Given the description of an element on the screen output the (x, y) to click on. 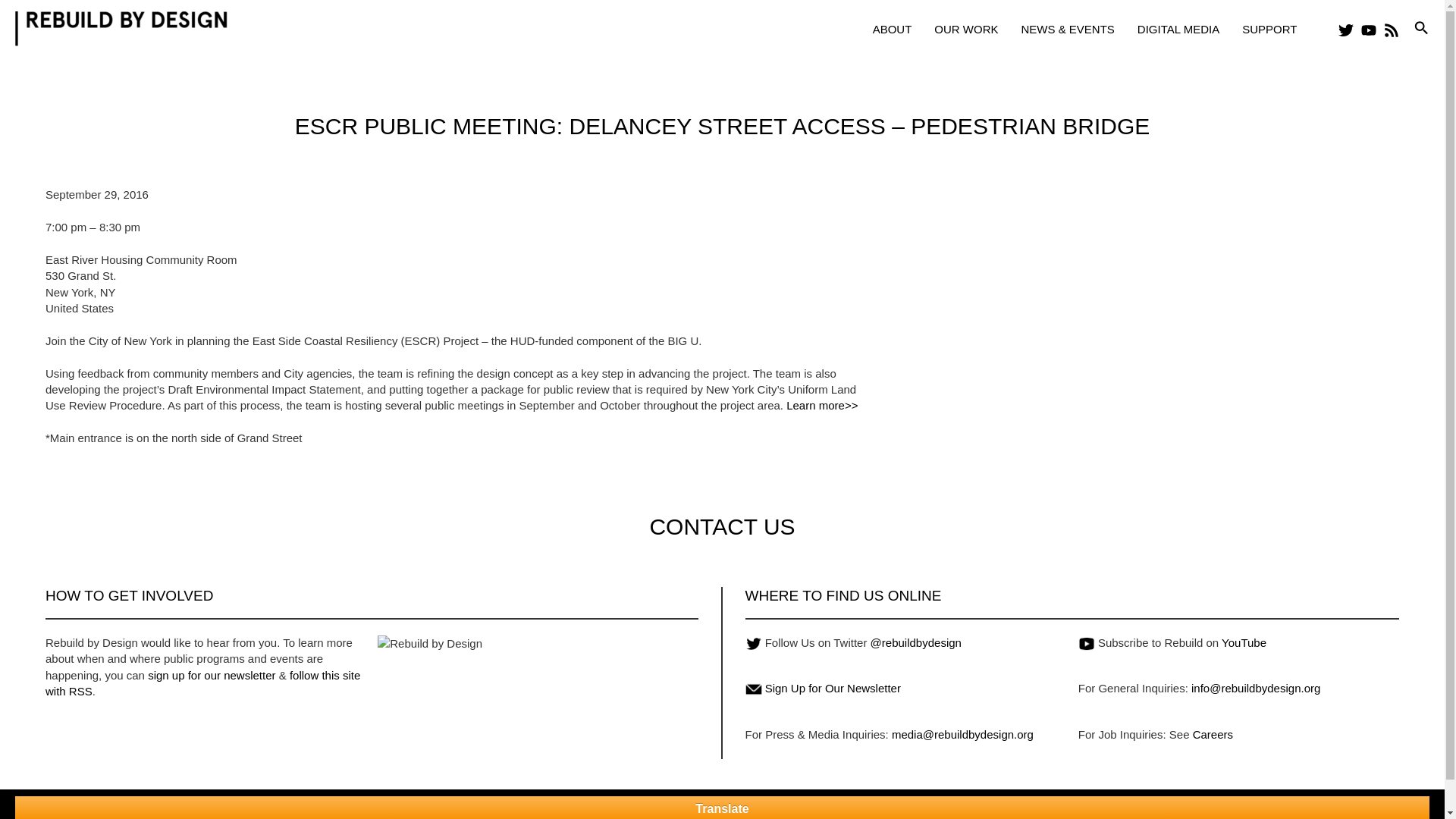
OUR WORK (966, 28)
SUPPORT (1268, 28)
DIGITAL MEDIA (1177, 28)
ABOUT (892, 28)
